Given the description of an element on the screen output the (x, y) to click on. 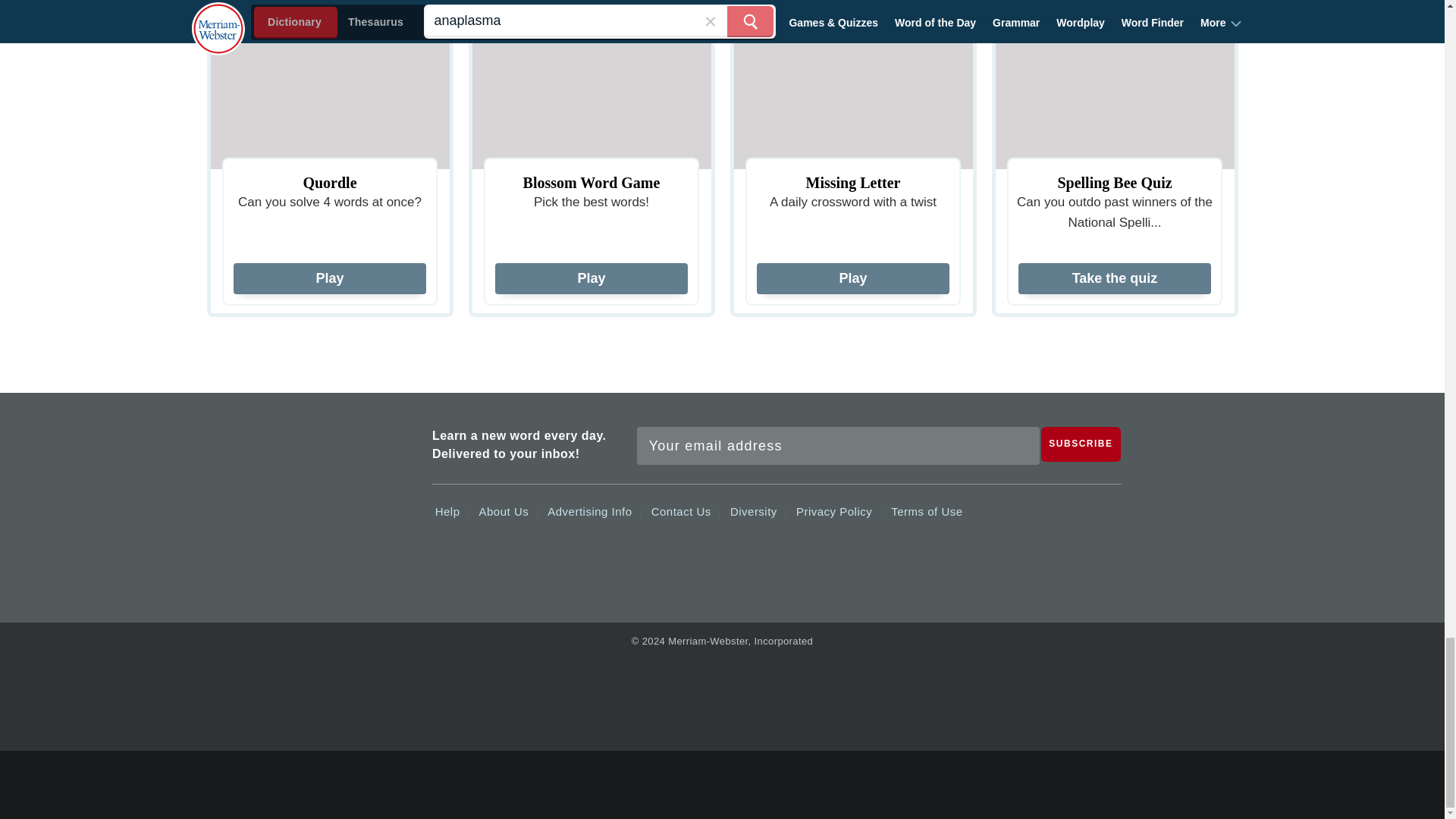
SUBSCRIBE (1081, 443)
